Given the description of an element on the screen output the (x, y) to click on. 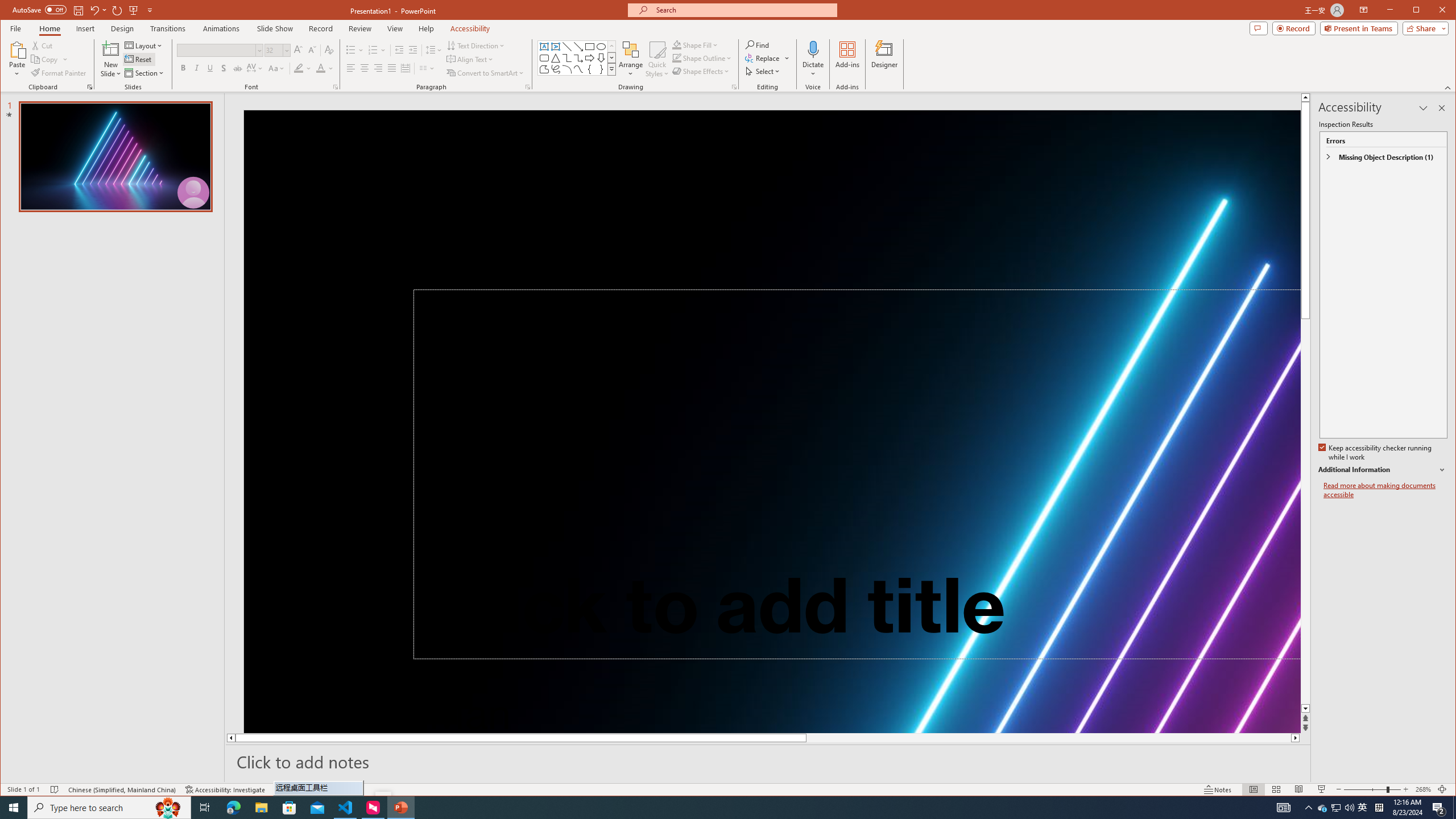
AutomationID: ShapesInsertGallery (577, 57)
PowerPoint - 1 running window (400, 807)
Vertical Text Box (556, 46)
Freeform: Scribble (556, 69)
Connector: Elbow Arrow (577, 57)
Shape Outline Blue, Accent 1 (676, 57)
Clear Formatting (328, 49)
Reset (138, 59)
